Given the description of an element on the screen output the (x, y) to click on. 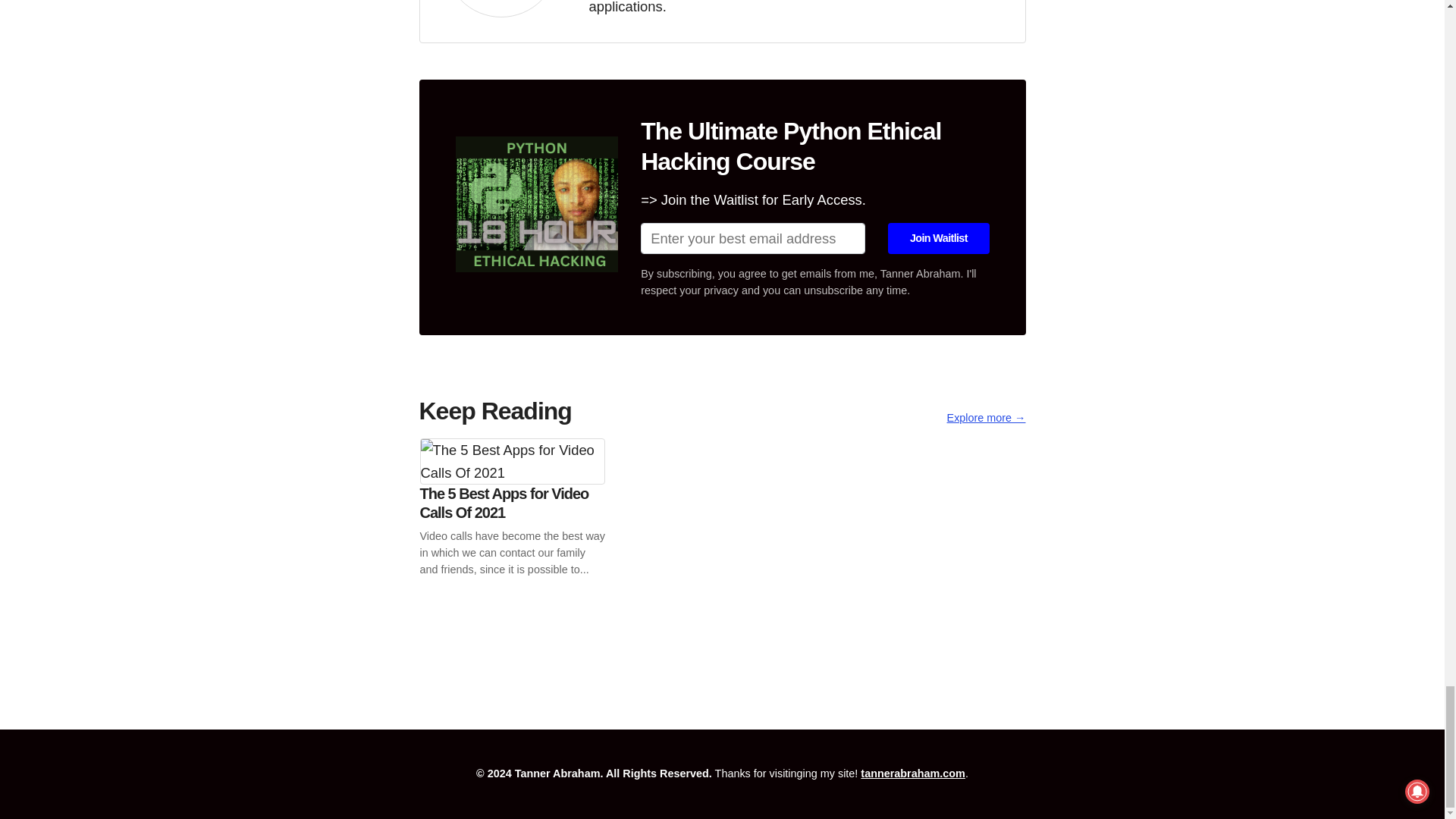
The 5 Best Apps for Video Calls Of 2021 (512, 523)
tannerabraham.com (912, 773)
Join Waitlist (938, 237)
